Given the description of an element on the screen output the (x, y) to click on. 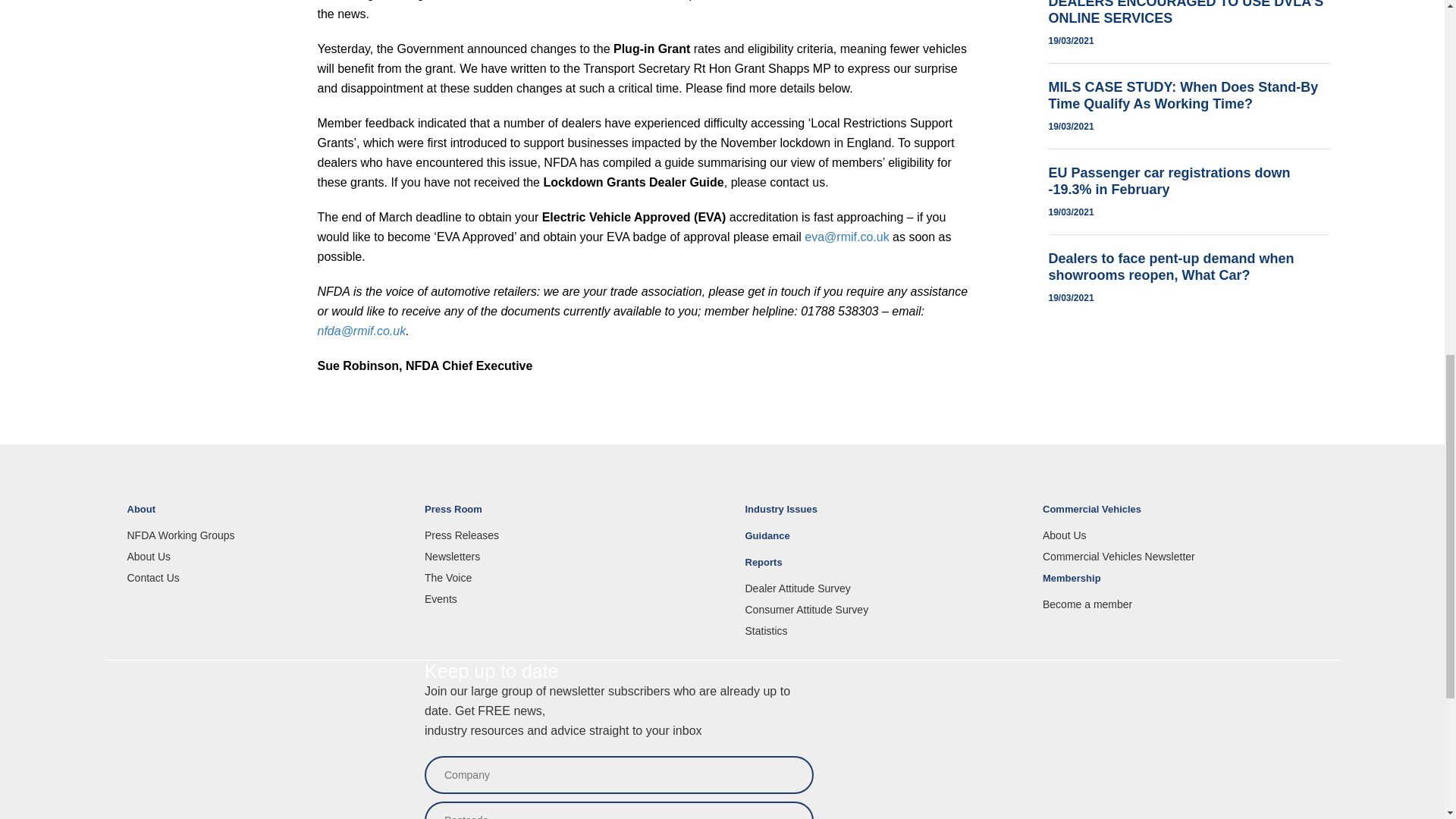
Consumer Attitude Survey (882, 609)
Contact Us (265, 577)
Dealer Attitude Survey (882, 588)
The Voice (562, 577)
About Us (265, 556)
NFDA Working Groups (265, 535)
Newsletters (562, 556)
Press Room (562, 515)
Statistics (882, 630)
Events (562, 598)
About (265, 515)
Industry Issues (882, 515)
Reports (882, 569)
Press Releases (562, 535)
